Given the description of an element on the screen output the (x, y) to click on. 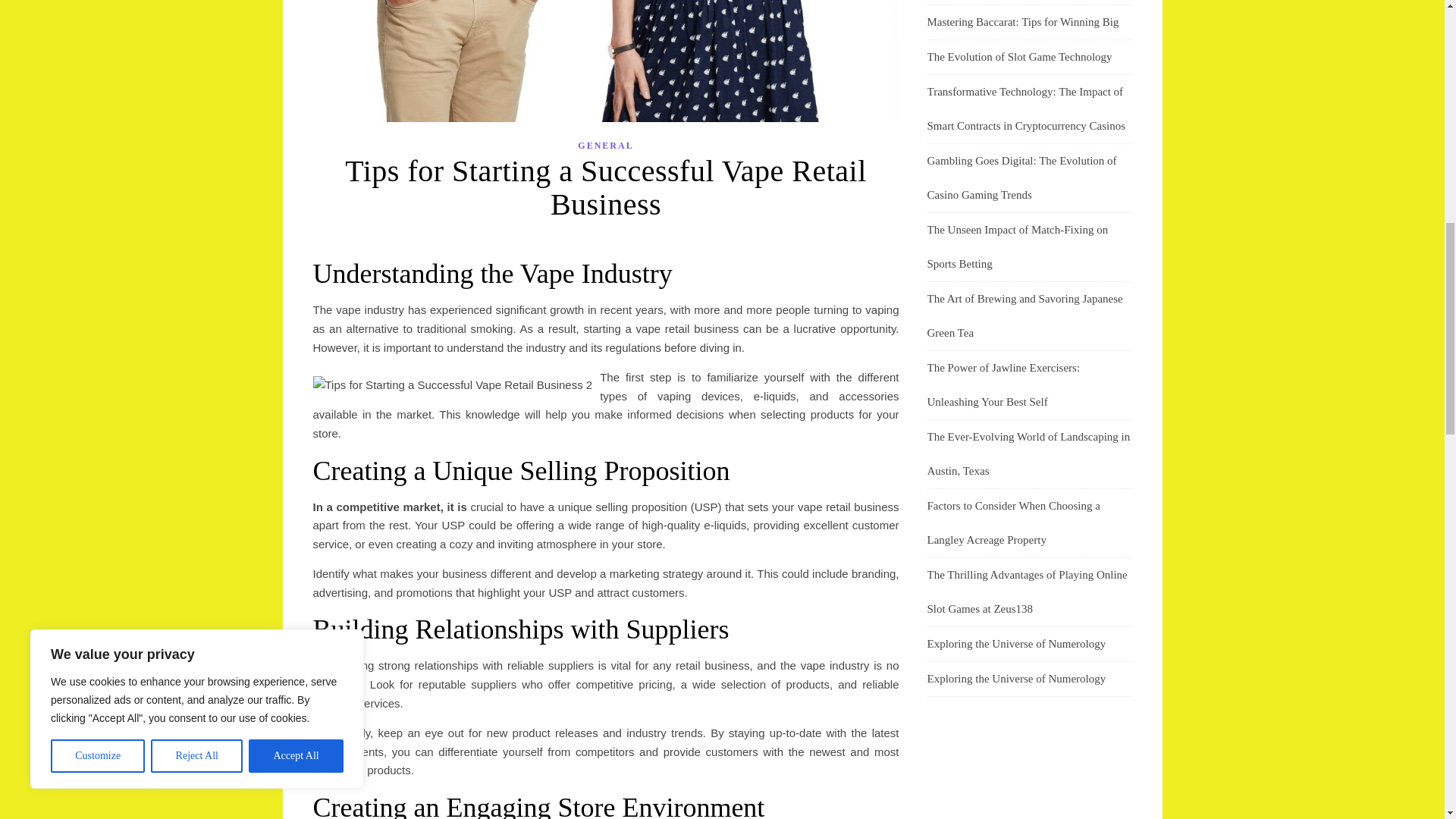
GENERAL (605, 145)
